Given the description of an element on the screen output the (x, y) to click on. 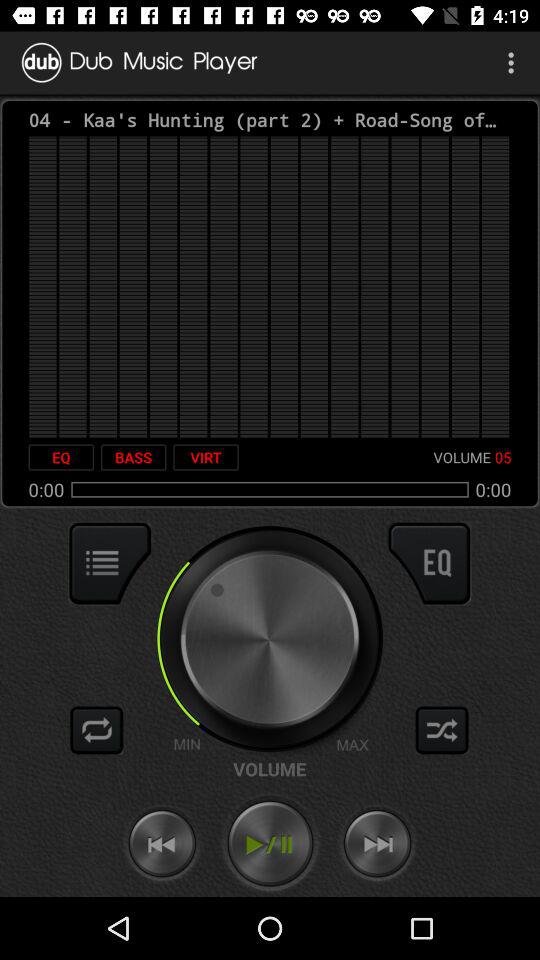
flip until bass  item (133, 457)
